Given the description of an element on the screen output the (x, y) to click on. 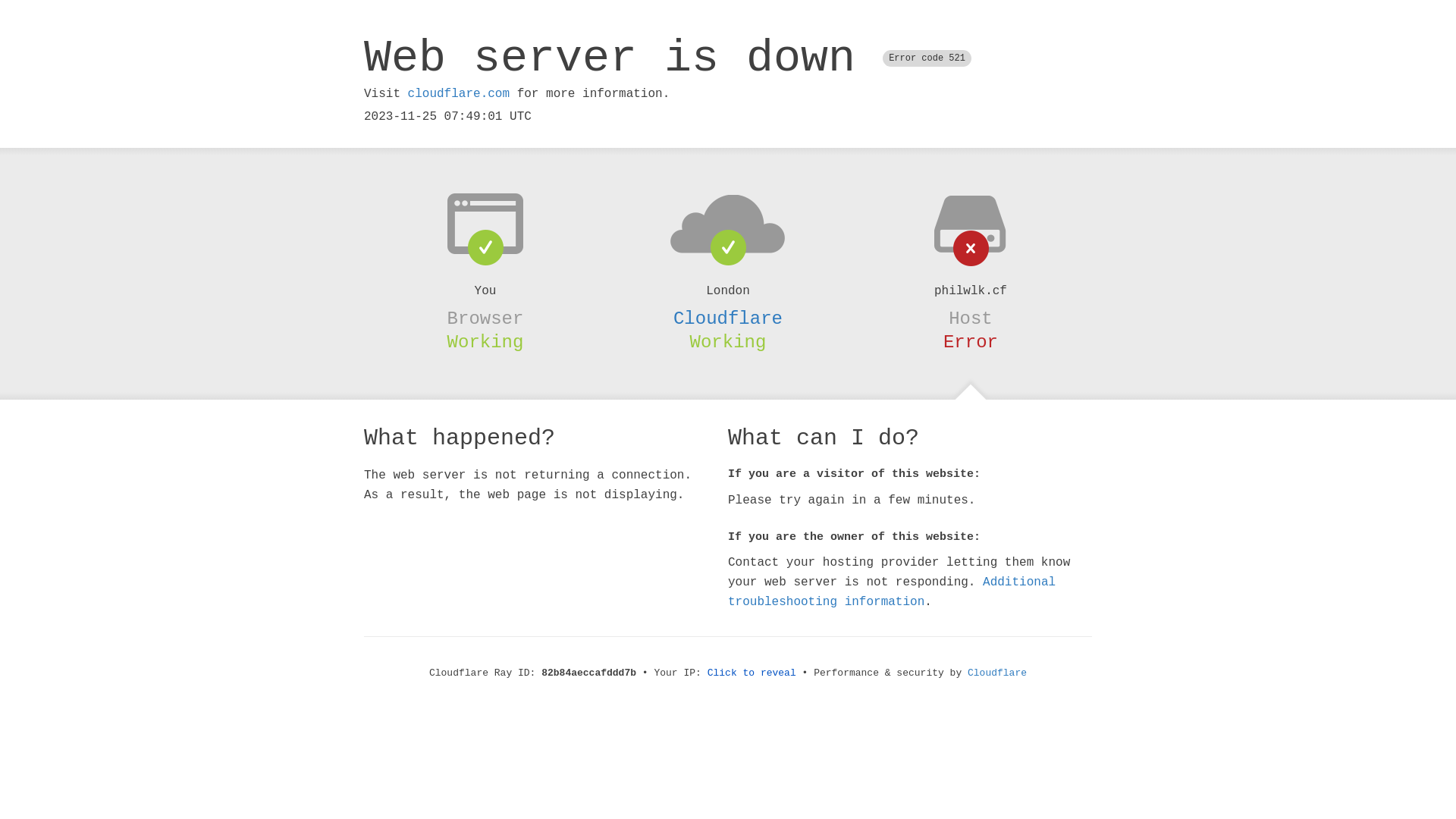
cloudflare.com Element type: text (458, 93)
Cloudflare Element type: text (727, 318)
Click to reveal Element type: text (751, 672)
Cloudflare Element type: text (996, 672)
Additional troubleshooting information Element type: text (891, 591)
